Given the description of an element on the screen output the (x, y) to click on. 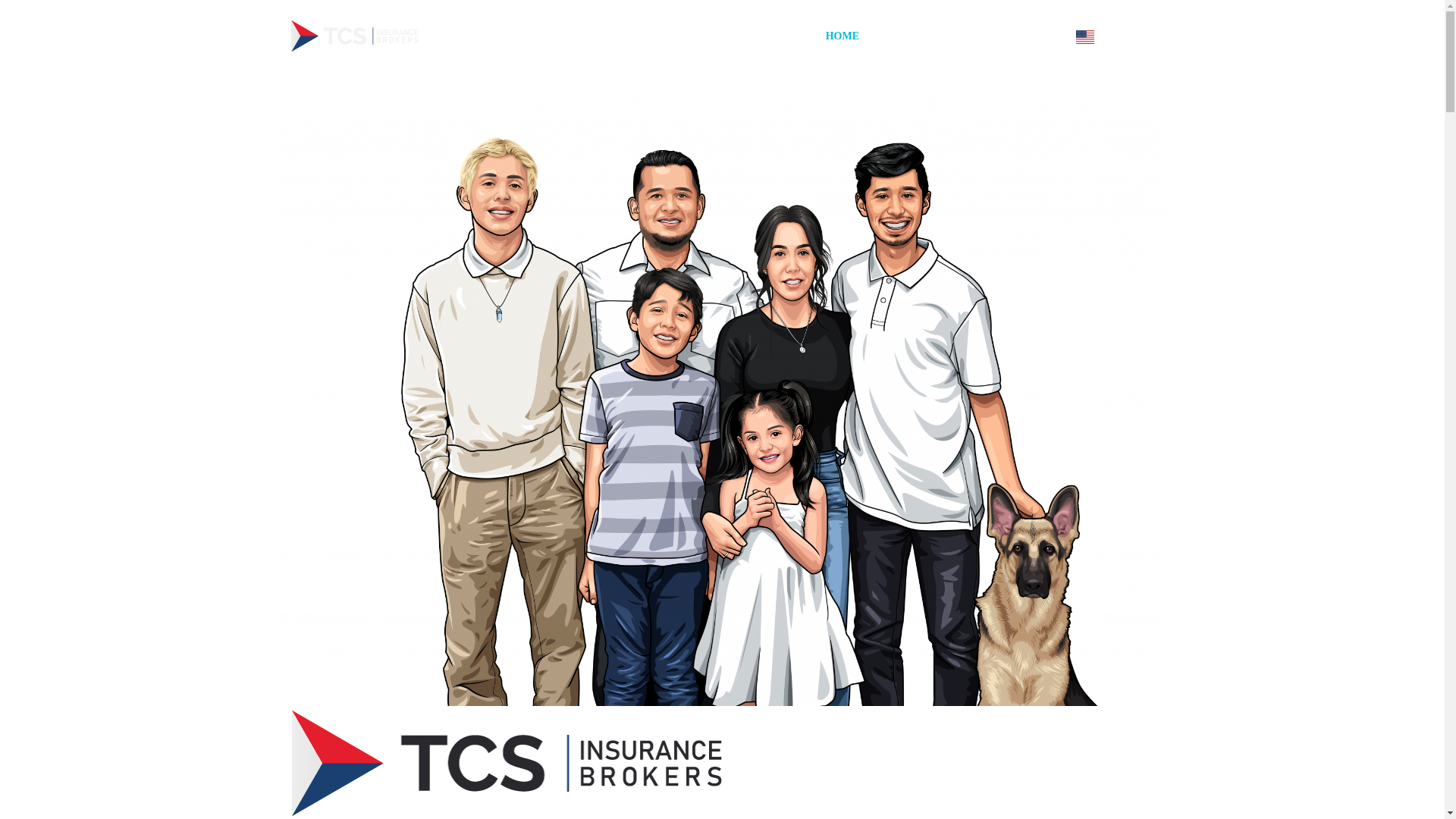
GET A QUOTE (1009, 36)
TCS Insurance Brokers (506, 762)
English (1110, 36)
ABOUT US (916, 36)
s (1326, 118)
ENGLISH (1110, 36)
